Given the description of an element on the screen output the (x, y) to click on. 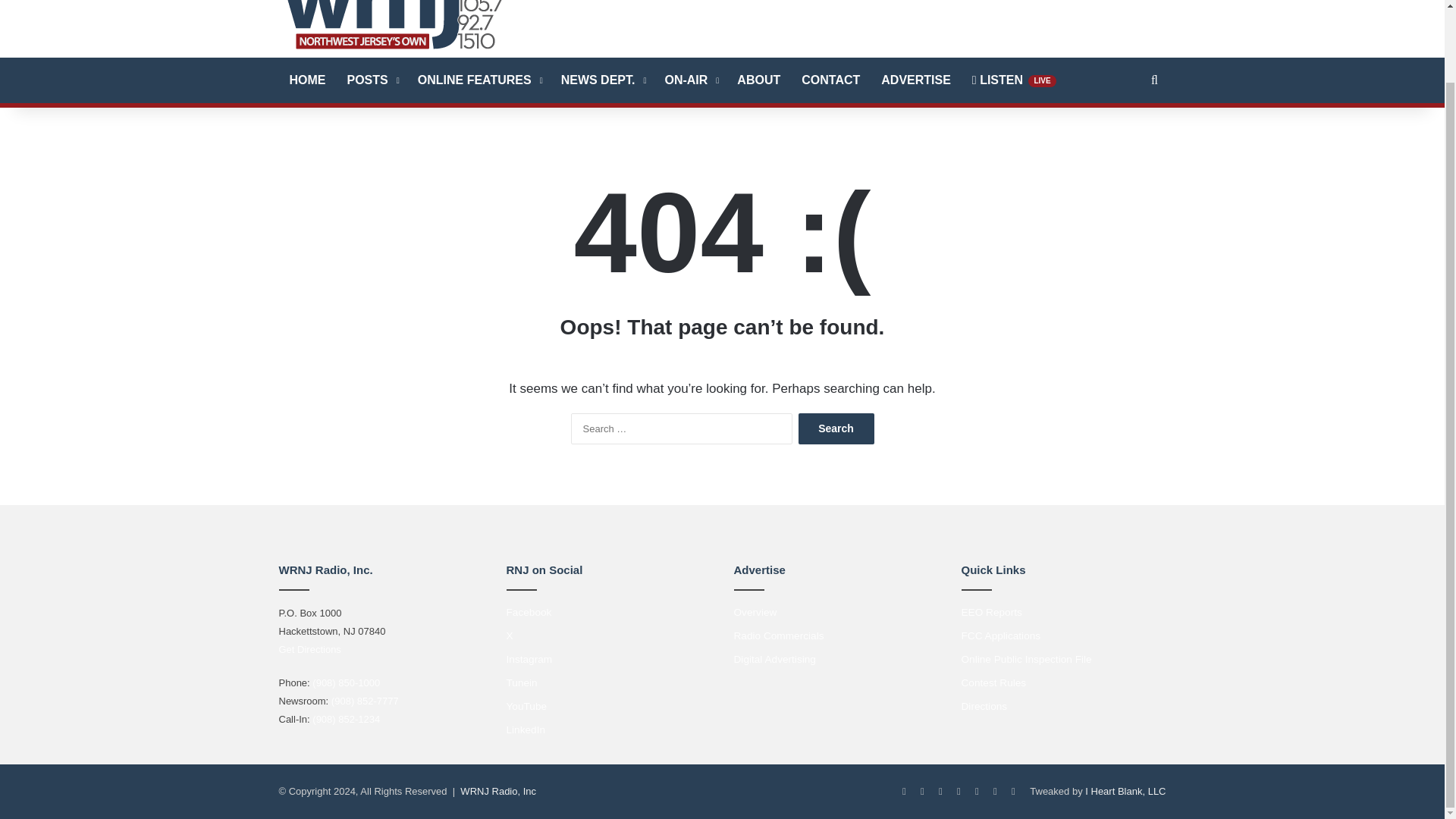
Search (835, 428)
CONTACT (830, 80)
POSTS (371, 80)
ON-AIR (689, 80)
NEWS DEPT. (601, 80)
Search (835, 428)
WRNJ Radio (392, 25)
ADVERTISE (915, 80)
ONLINE FEATURES (478, 80)
ABOUT (758, 80)
